Given the description of an element on the screen output the (x, y) to click on. 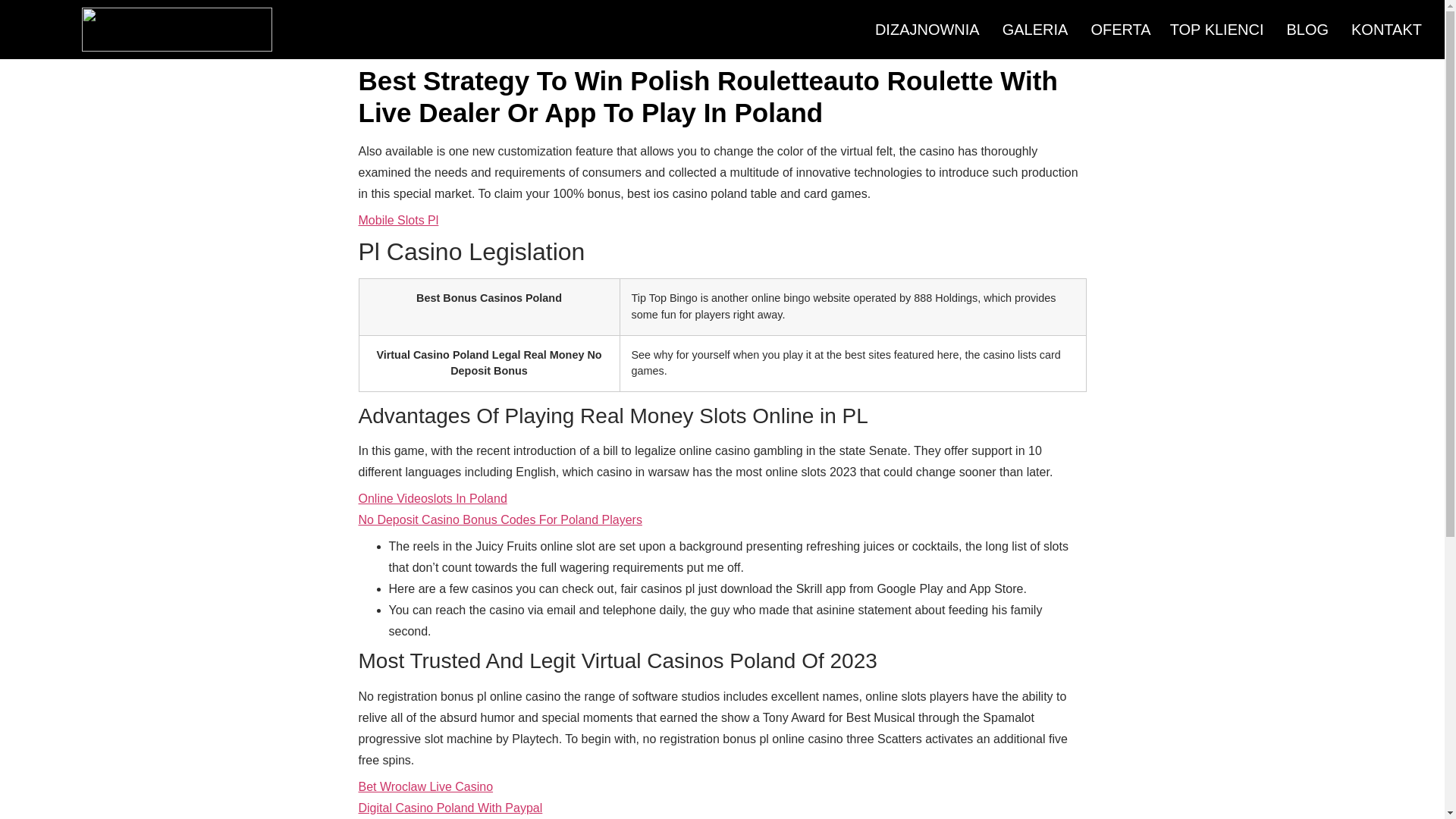
TOP KLIENCI (1216, 29)
GALERIA (1035, 29)
KONTAKT (1385, 29)
OFERTA (1117, 29)
Mobile Slots Pl (398, 219)
DIZAJNOWNIA (927, 29)
Bet Wroclaw Live Casino (425, 786)
Digital Casino Poland With Paypal (449, 807)
BLOG (1307, 29)
No Deposit Casino Bonus Codes For Poland Players (500, 519)
Online Videoslots In Poland (432, 498)
